Given the description of an element on the screen output the (x, y) to click on. 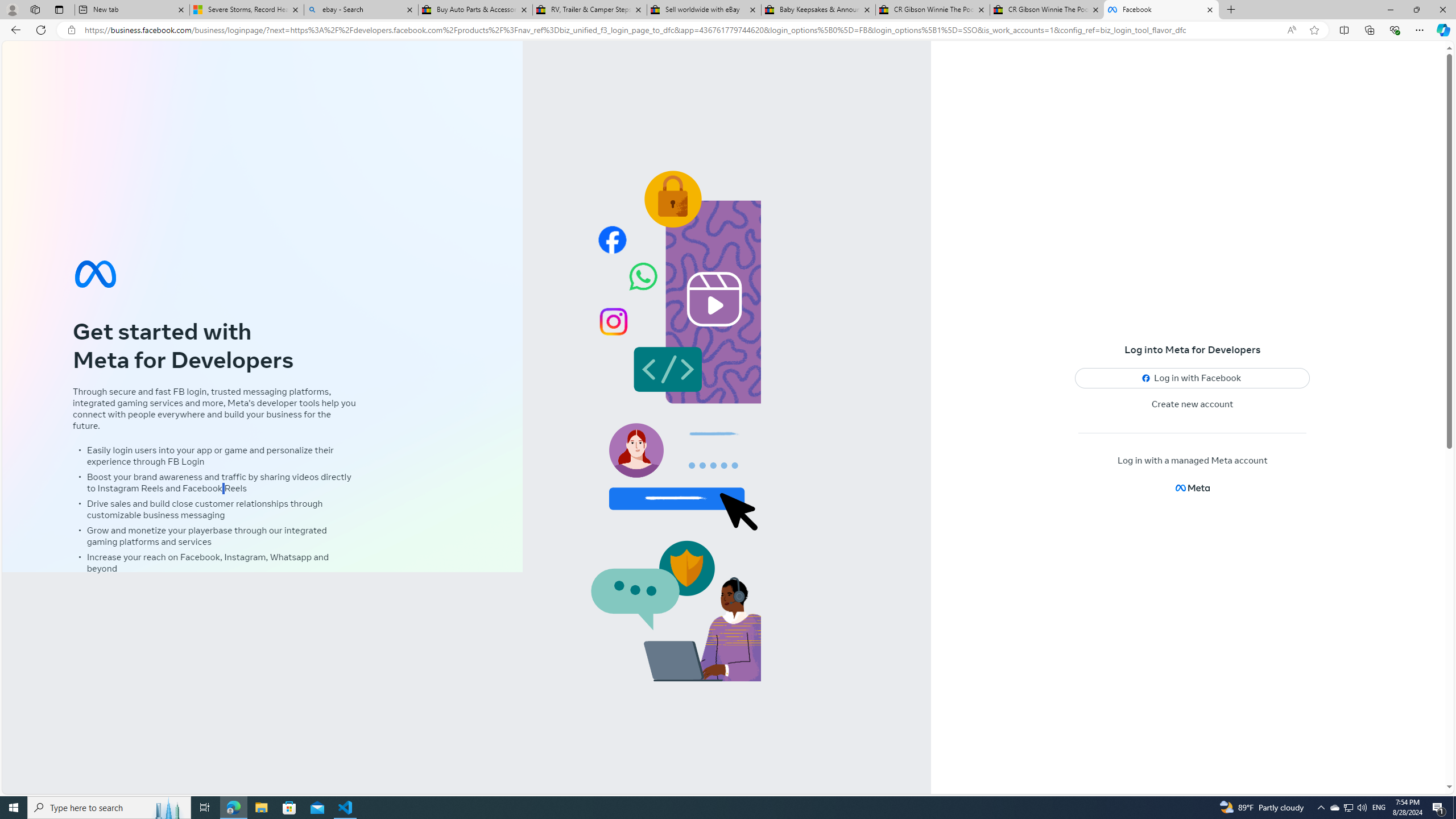
Meta logo (1191, 488)
Log in with a managed Meta account (1192, 460)
Log in with Facebook (1192, 378)
Create new account (1192, 404)
